Given the description of an element on the screen output the (x, y) to click on. 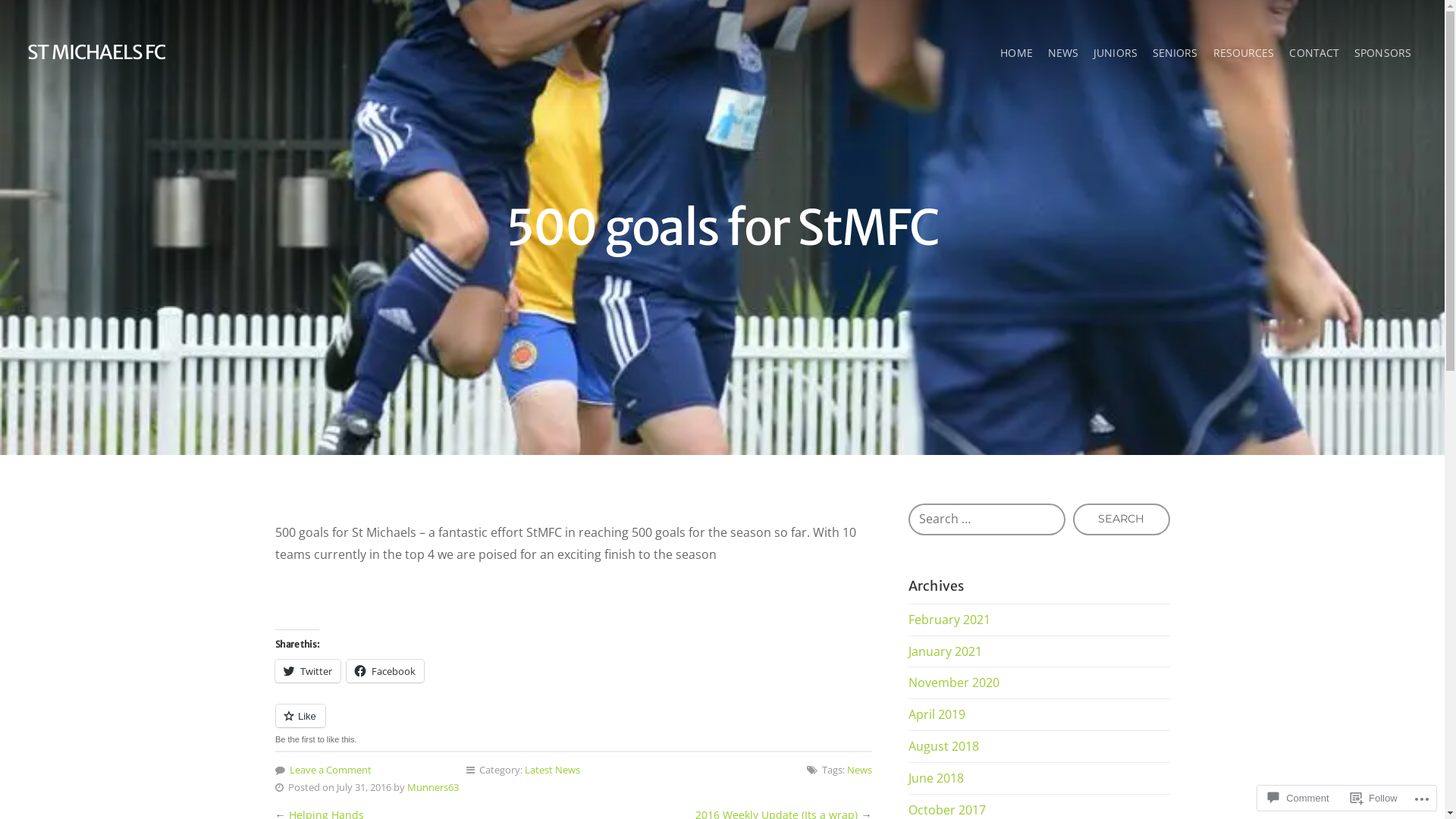
February 2021 Element type: text (949, 619)
October 2017 Element type: text (946, 809)
June 2018 Element type: text (935, 777)
CONTACT Element type: text (1314, 52)
Like or Reblog Element type: hover (572, 724)
November 2020 Element type: text (953, 682)
News Element type: text (859, 769)
Facebook Element type: text (384, 670)
JUNIORS Element type: text (1115, 52)
Munners63 Element type: text (432, 786)
January 2021 Element type: text (945, 651)
April 2019 Element type: text (936, 714)
Follow Element type: text (1373, 797)
Latest News Element type: text (552, 769)
ST MICHAELS FC Element type: text (96, 52)
Comment Element type: text (1297, 797)
Search Element type: text (1121, 519)
Leave a Comment Element type: text (330, 769)
August 2018 Element type: text (943, 745)
SENIORS Element type: text (1175, 52)
Twitter Element type: text (306, 670)
RESOURCES Element type: text (1243, 52)
NEWS Element type: text (1062, 52)
HOME Element type: text (1016, 52)
SPONSORS Element type: text (1382, 52)
